Given the description of an element on the screen output the (x, y) to click on. 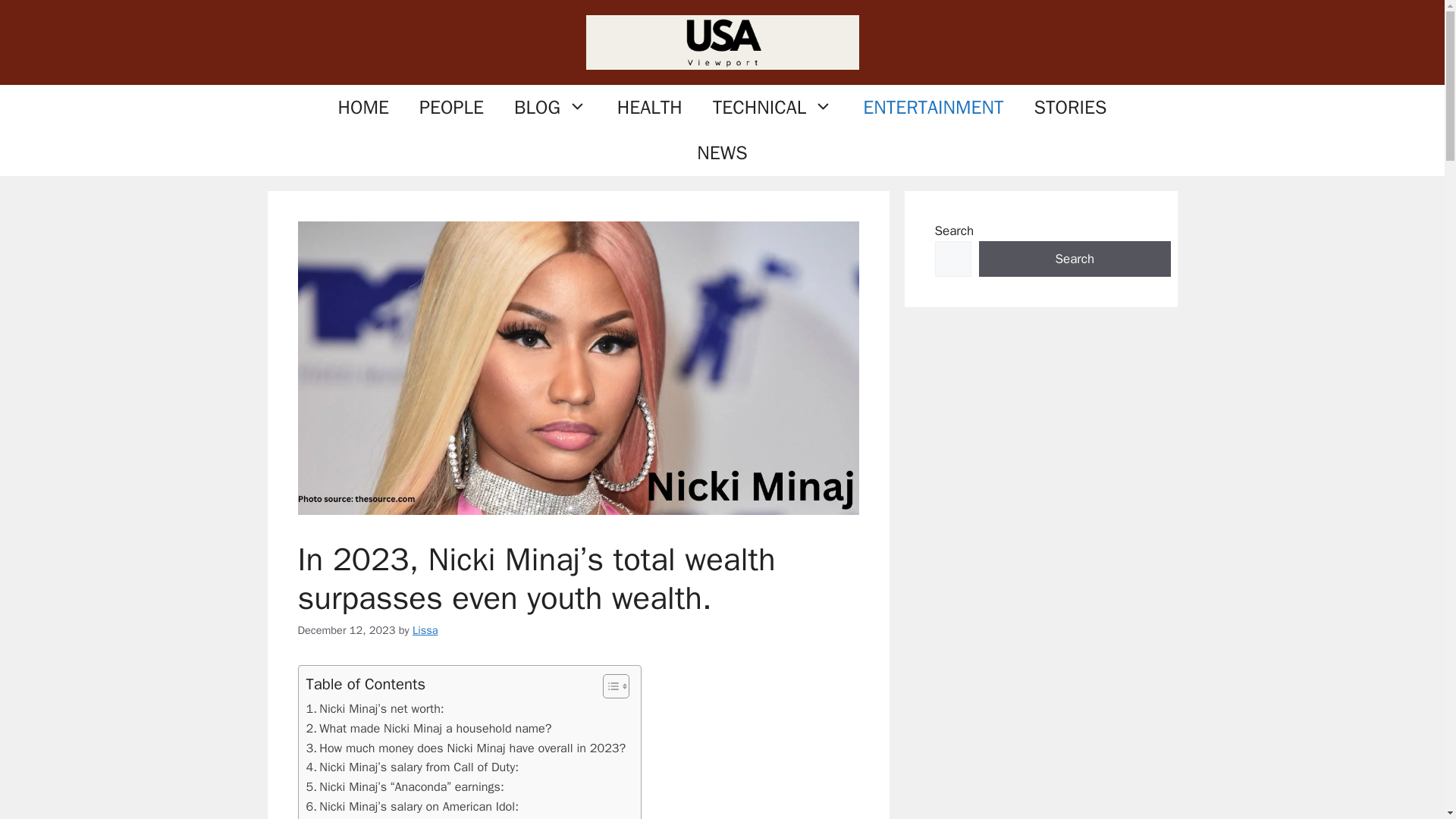
NEWS (721, 153)
Lissa (425, 630)
View all posts by Lissa (425, 630)
PEOPLE (451, 107)
ENTERTAINMENT (932, 107)
STORIES (1070, 107)
Search (1074, 258)
HOME (363, 107)
How much money does Nicki Minaj have overall in 2023? (465, 748)
What made Nicki Minaj a household name? (428, 728)
BLOG (550, 107)
TECHNICAL (772, 107)
How much money does Nicki Minaj have overall in 2023? (465, 748)
HEALTH (649, 107)
